Given the description of an element on the screen output the (x, y) to click on. 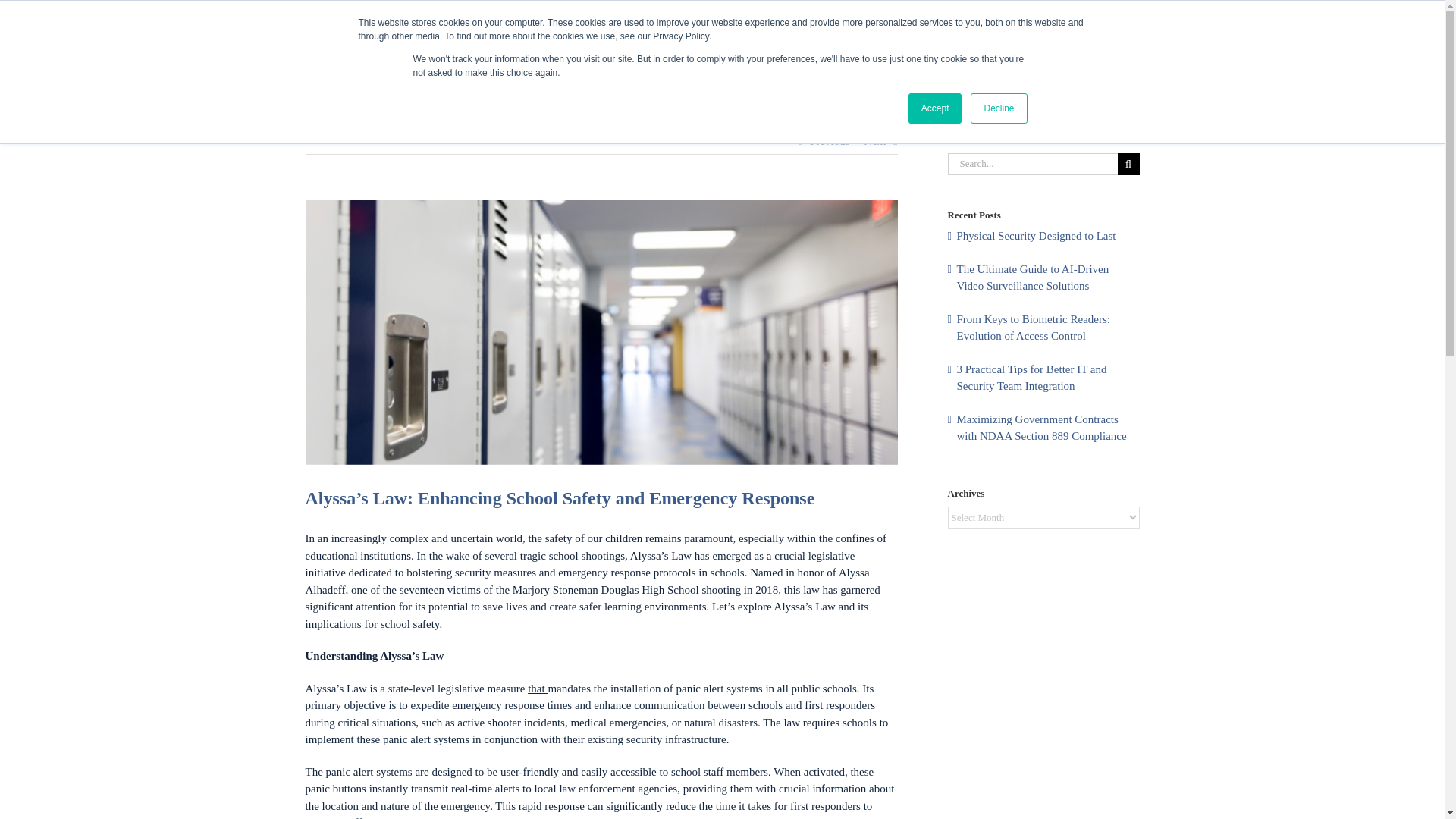
Decline (998, 108)
Previous (829, 140)
Reseller Login (1102, 13)
Accept (935, 108)
Register (956, 13)
Consultant Login (1023, 13)
